Given the description of an element on the screen output the (x, y) to click on. 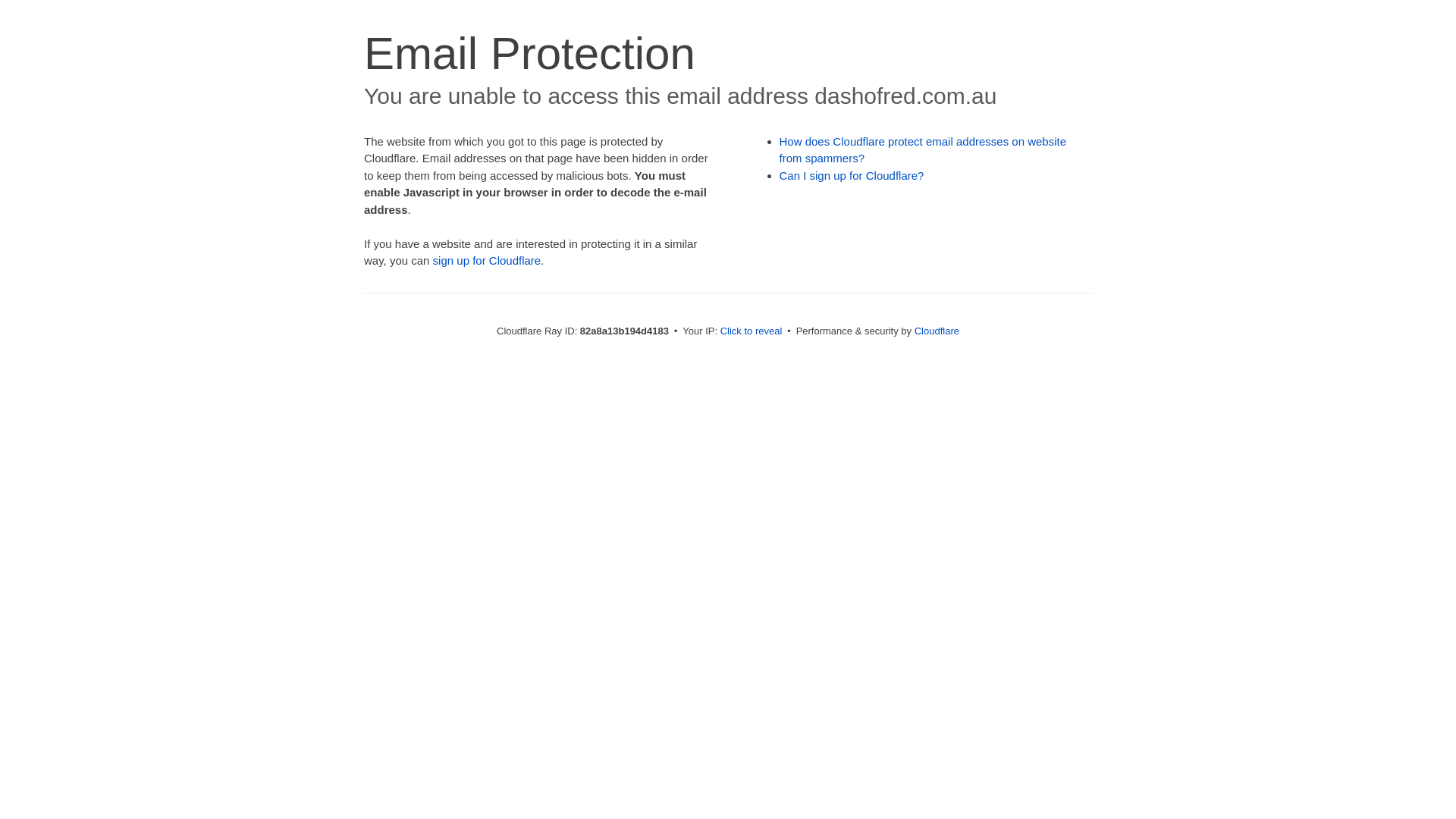
sign up for Cloudflare Element type: text (487, 260)
Cloudflare Element type: text (936, 330)
Click to reveal Element type: text (751, 330)
Can I sign up for Cloudflare? Element type: text (851, 175)
